Given the description of an element on the screen output the (x, y) to click on. 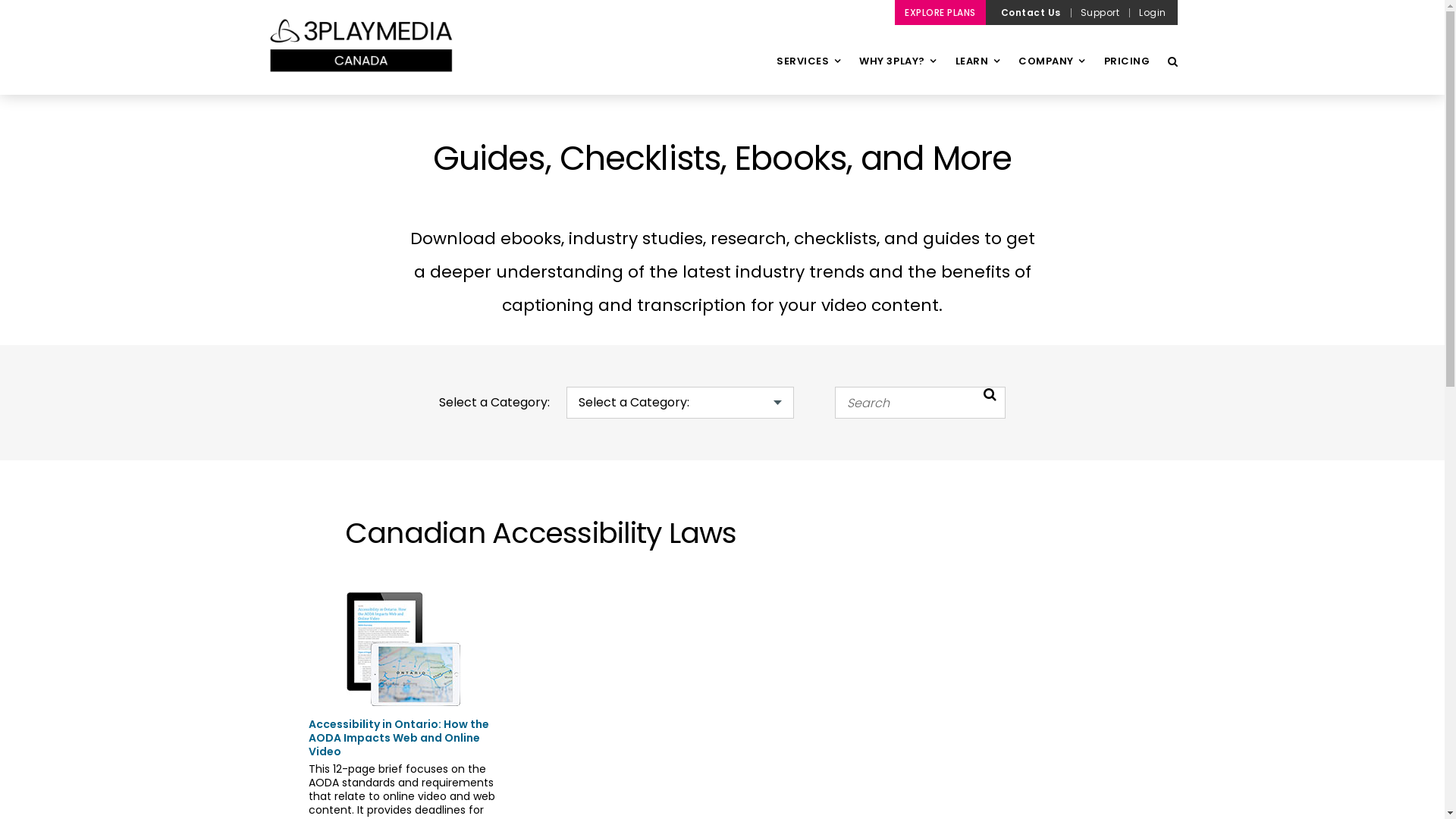
PRICING Element type: text (1127, 73)
COMPANY Element type: text (1051, 73)
LEARN Element type: text (977, 73)
Login Element type: text (1152, 12)
EXPLORE PLANS Element type: text (939, 12)
SERVICES Element type: text (808, 73)
Support Element type: text (1099, 12)
Contact Us Element type: text (1030, 12)
Search Element type: text (1172, 61)
WHY 3PLAY? Element type: text (897, 73)
Search Element type: text (989, 402)
